Given the description of an element on the screen output the (x, y) to click on. 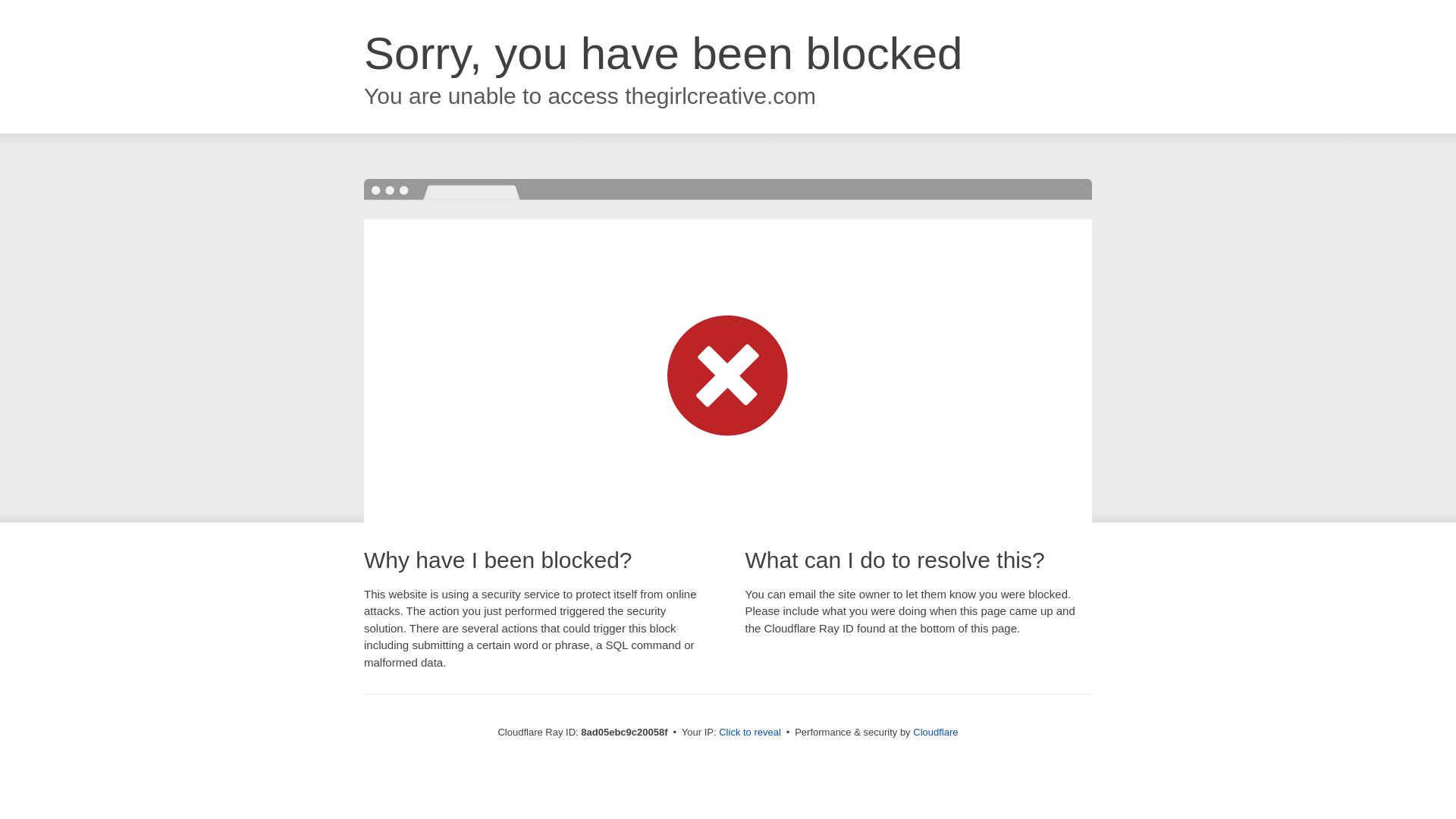
Click to reveal (749, 732)
Cloudflare (935, 731)
